Given the description of an element on the screen output the (x, y) to click on. 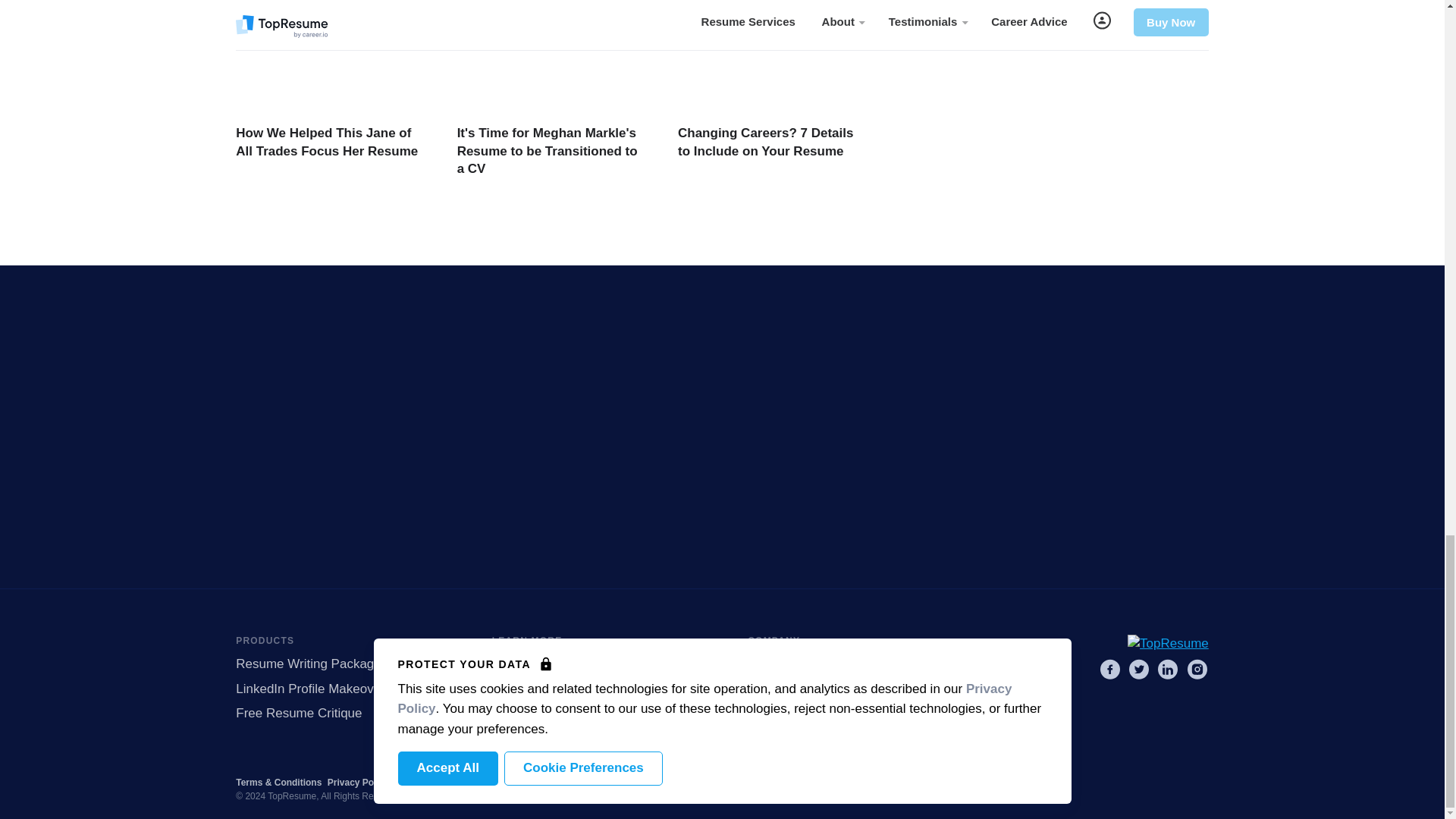
Changing Careers? 7 Details to Include on Your Resume (765, 142)
How We Helped This Jane of All Trades Focus Her Resume (326, 142)
